Given the description of an element on the screen output the (x, y) to click on. 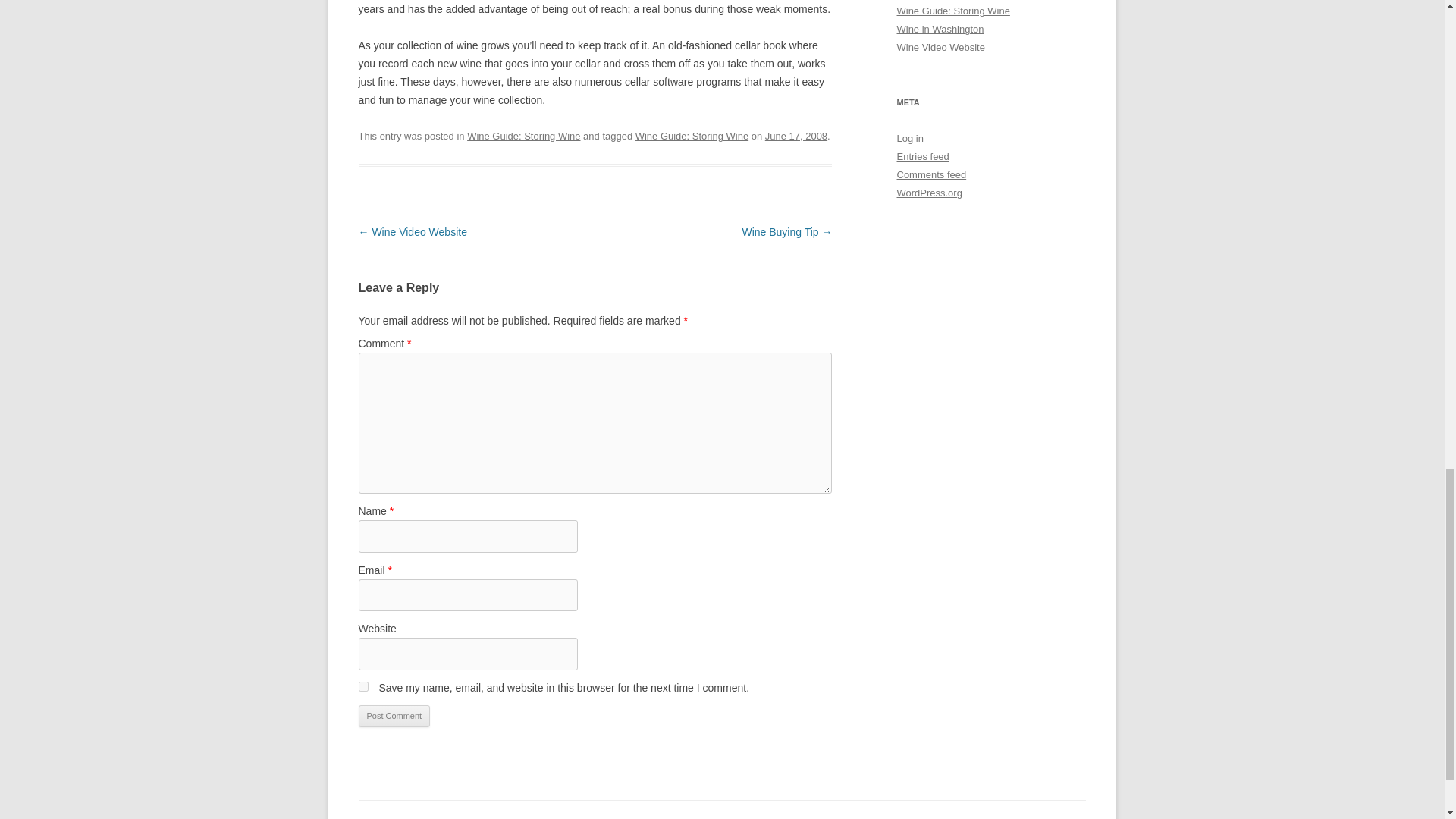
yes (363, 686)
June 17, 2008 (796, 135)
Wine Guide: Storing Wine (691, 135)
Post Comment (393, 716)
11:15 pm (796, 135)
Wine Guide: Storing Wine (523, 135)
Post Comment (393, 716)
